Given the description of an element on the screen output the (x, y) to click on. 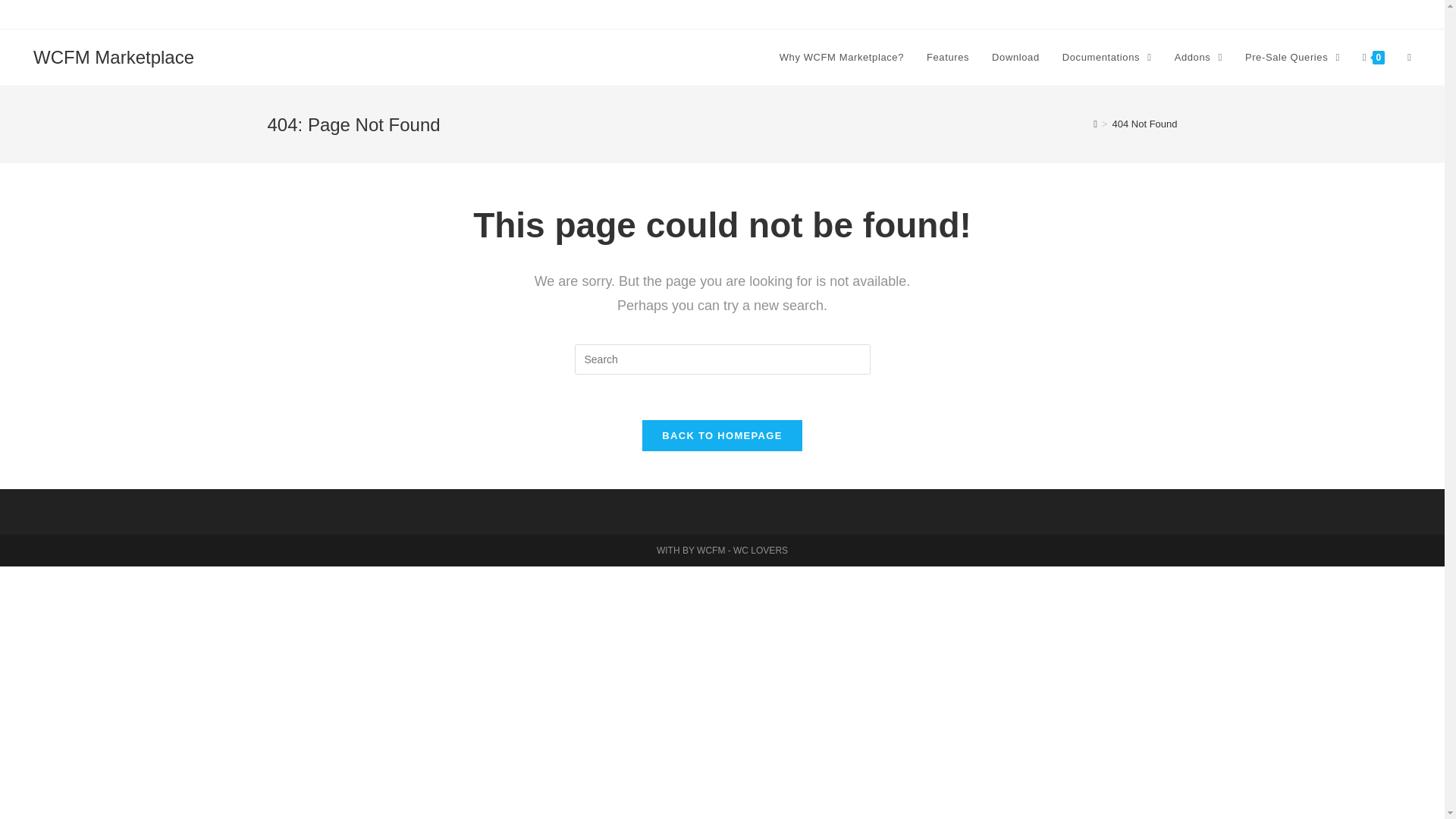
Pre-Sale Queries (1292, 57)
Download (1015, 57)
WCFM Marketplace (113, 56)
Why WCFM Marketplace? (841, 57)
Documentations (1107, 57)
Addons (1198, 57)
Store Manager (1257, 13)
Features (947, 57)
Become a Vendor (1334, 13)
My account (1406, 13)
